Given the description of an element on the screen output the (x, y) to click on. 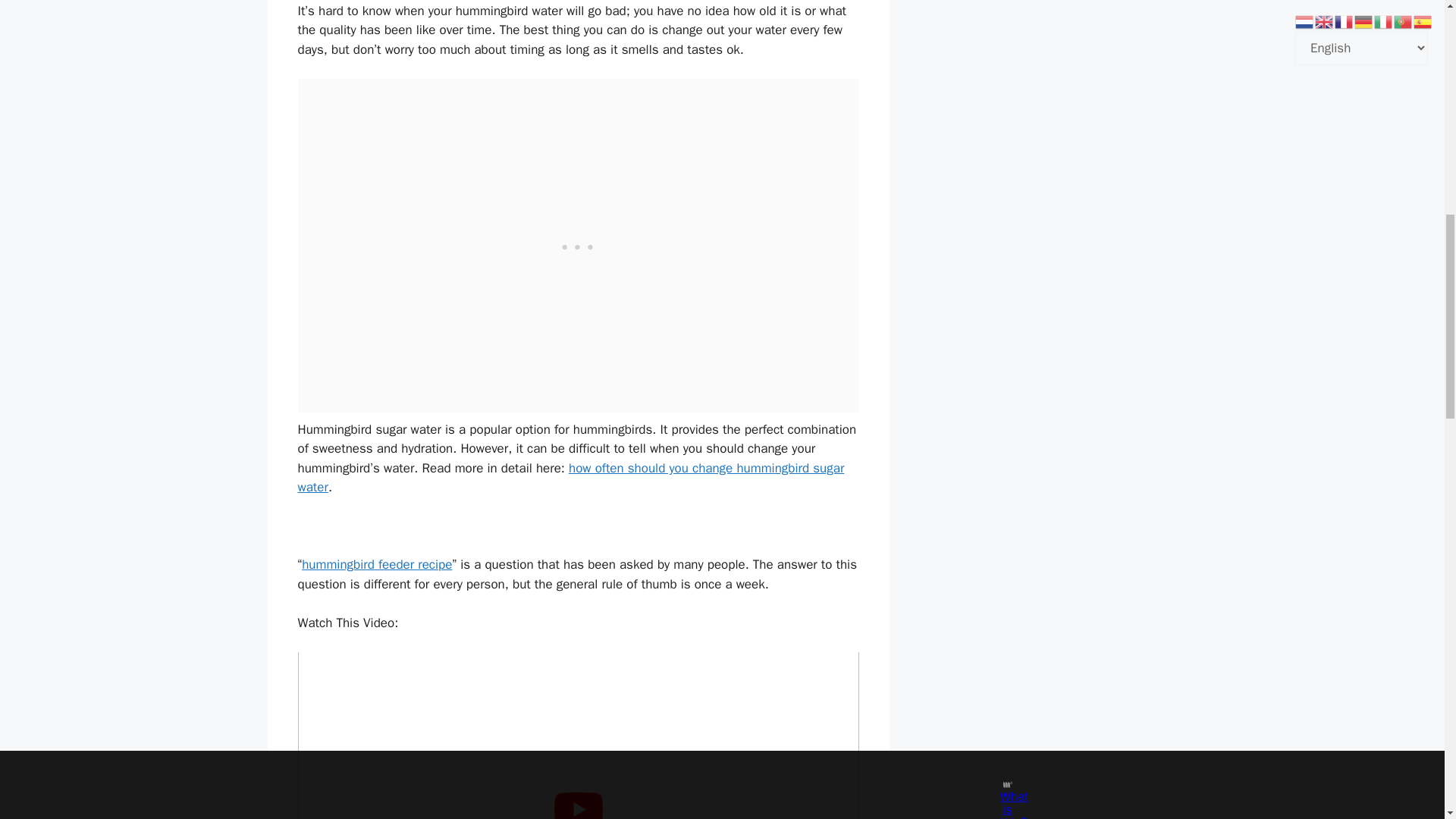
how often should you change hummingbird sugar water (570, 478)
hummingbird feeder recipe (376, 564)
